Given the description of an element on the screen output the (x, y) to click on. 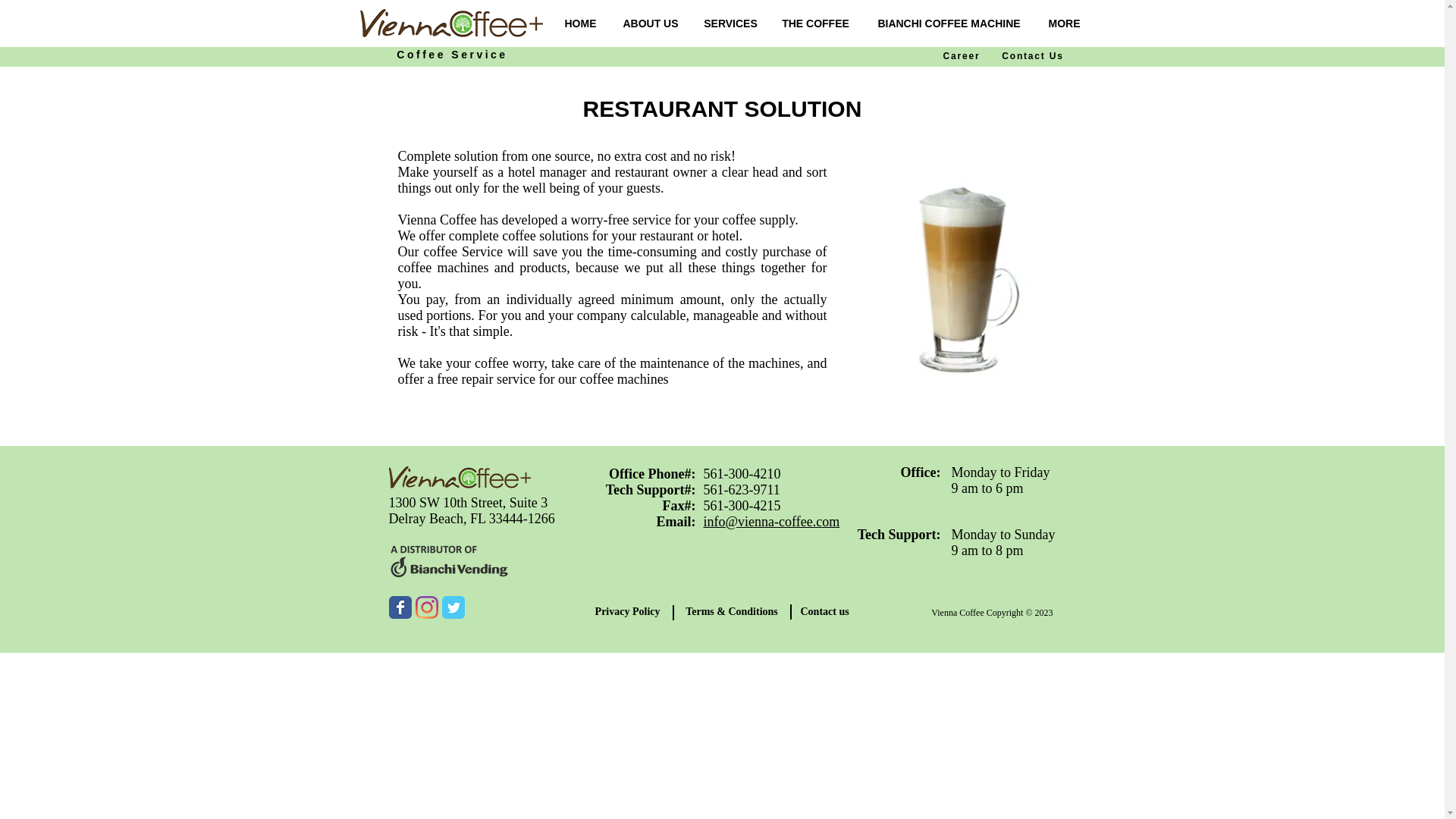
Email: (675, 521)
BIANCHI COFFEE MACHINE (948, 23)
561-300-4210 (741, 473)
Contact Us (1031, 55)
Coffee Service (451, 54)
Career (961, 55)
HOME (580, 23)
ABOUT US (651, 23)
Contact us (832, 611)
Privacy Policy (620, 611)
